Given the description of an element on the screen output the (x, y) to click on. 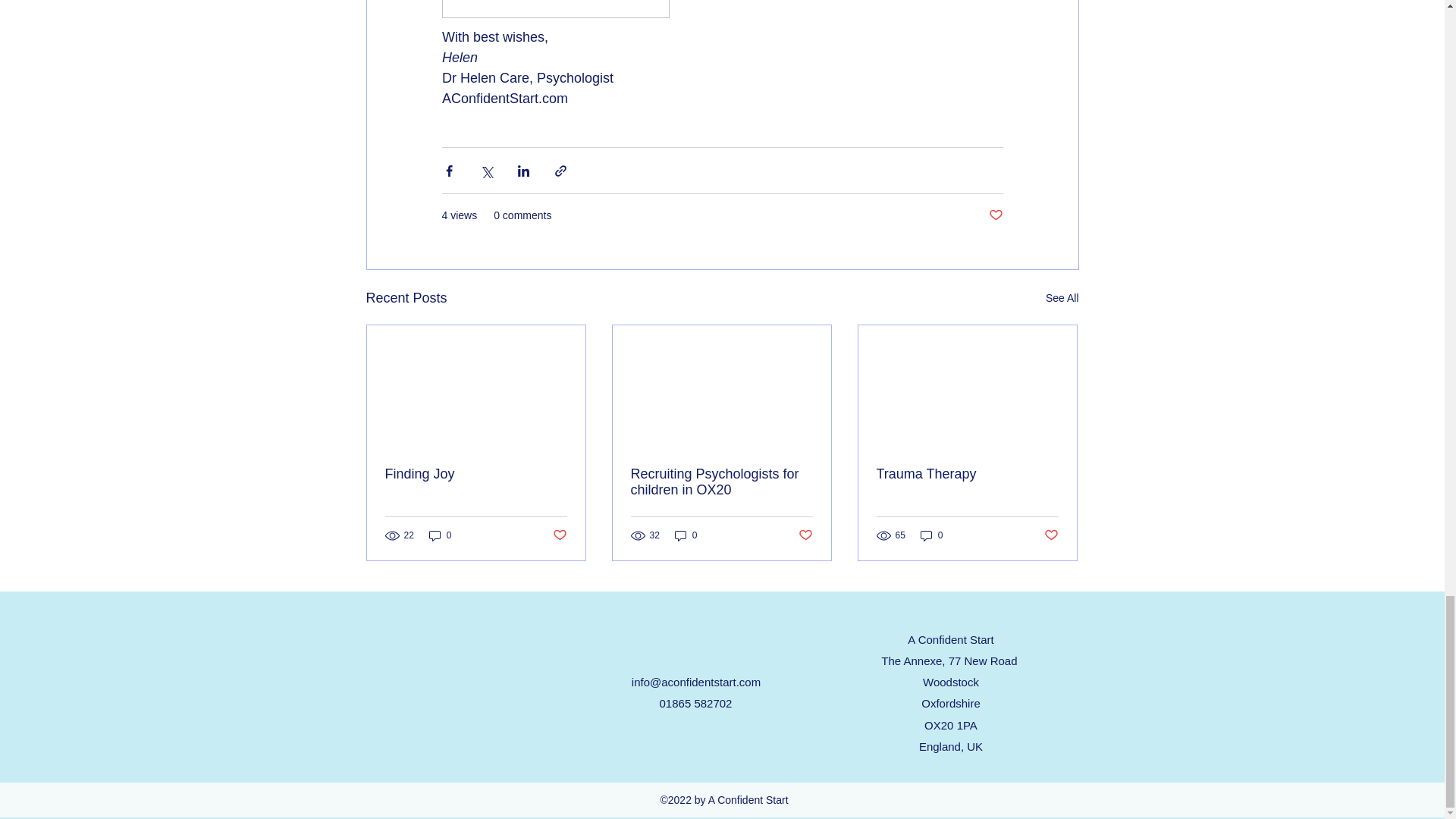
Post not marked as liked (995, 215)
Recruiting Psychologists for children in OX20 (721, 481)
Post not marked as liked (558, 535)
0 (440, 535)
See All (1061, 298)
Finding Joy (476, 474)
